Given the description of an element on the screen output the (x, y) to click on. 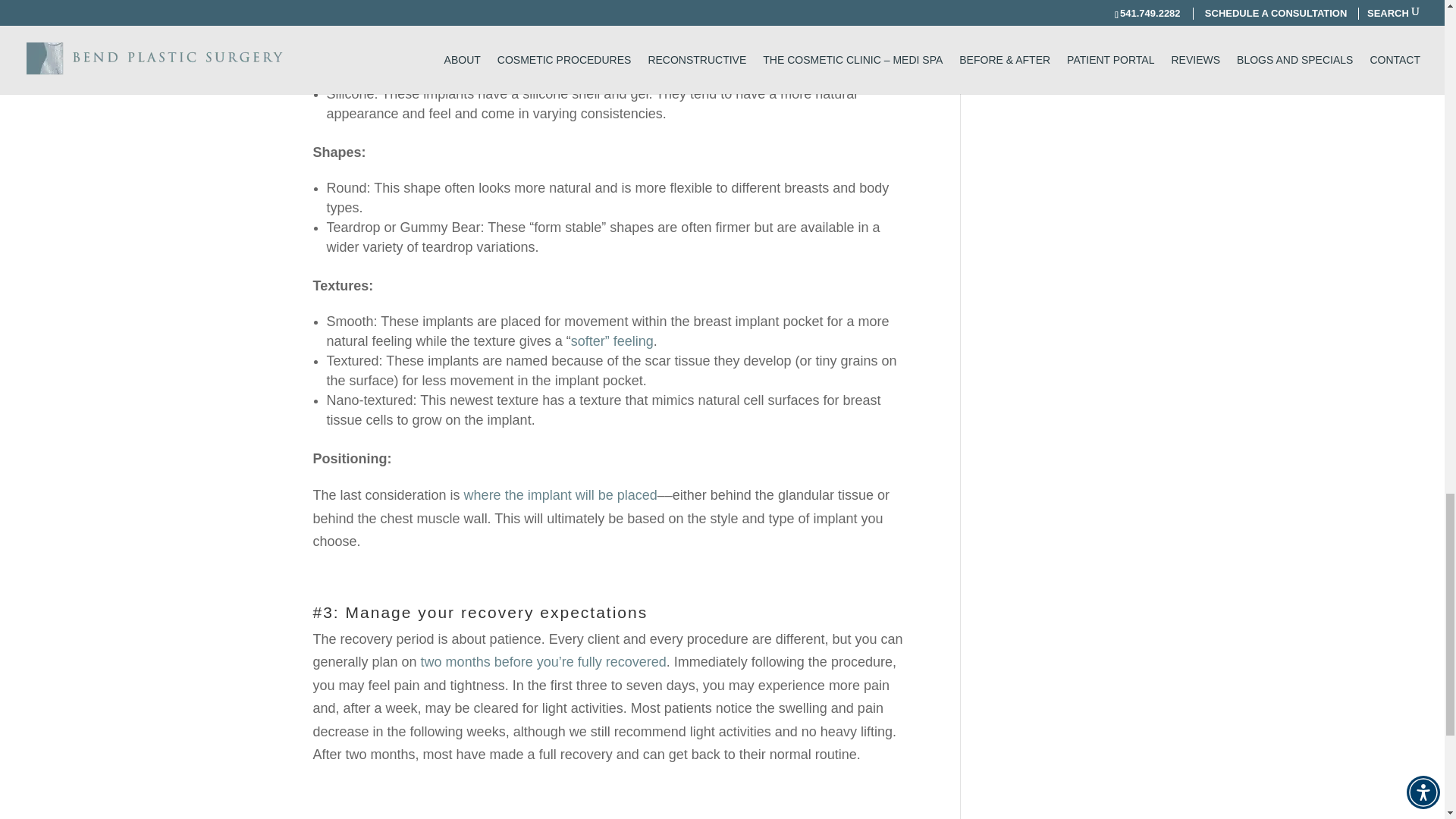
where the implant will be placed (561, 494)
